Given the description of an element on the screen output the (x, y) to click on. 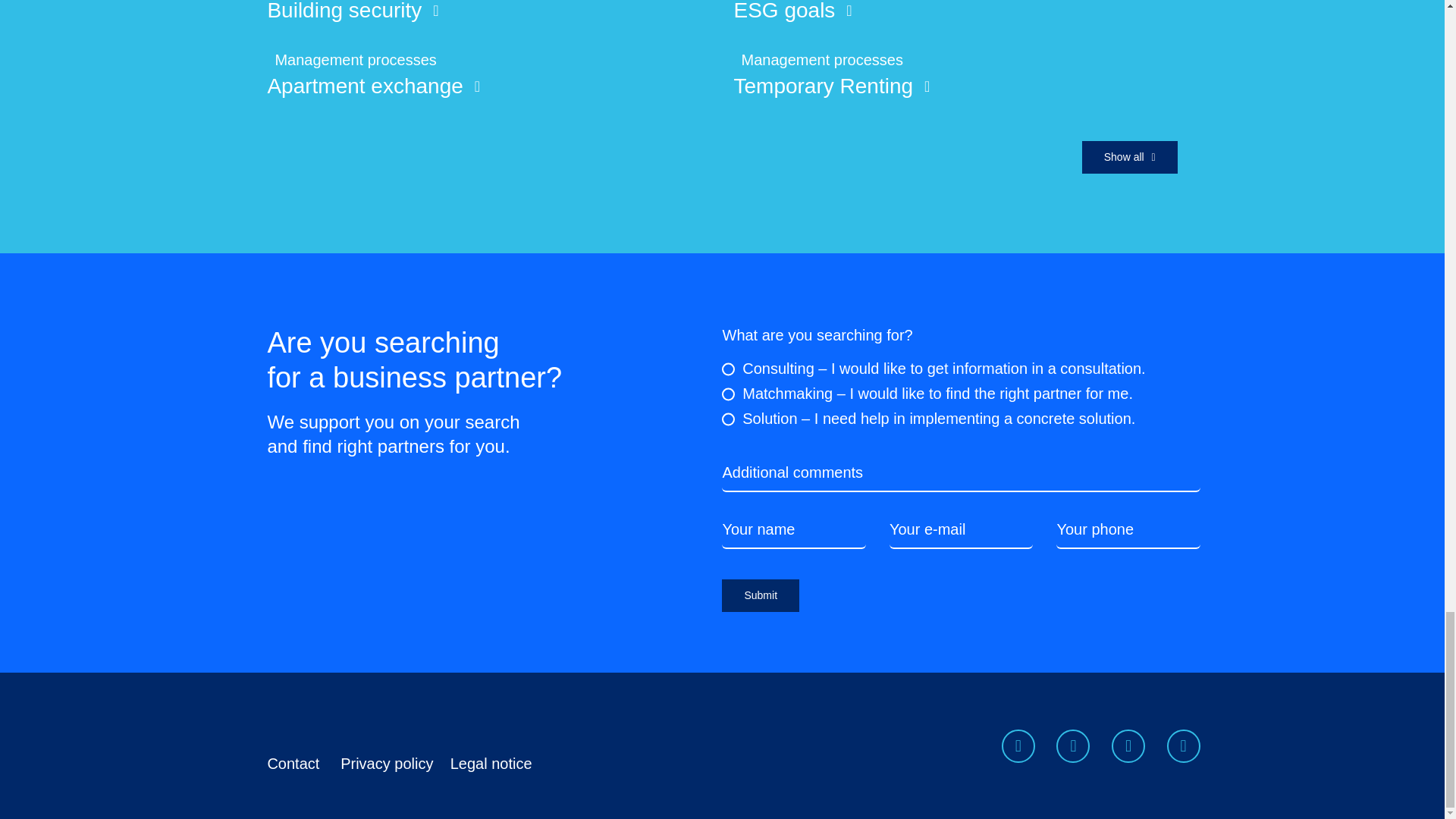
Submit (960, 603)
